Given the description of an element on the screen output the (x, y) to click on. 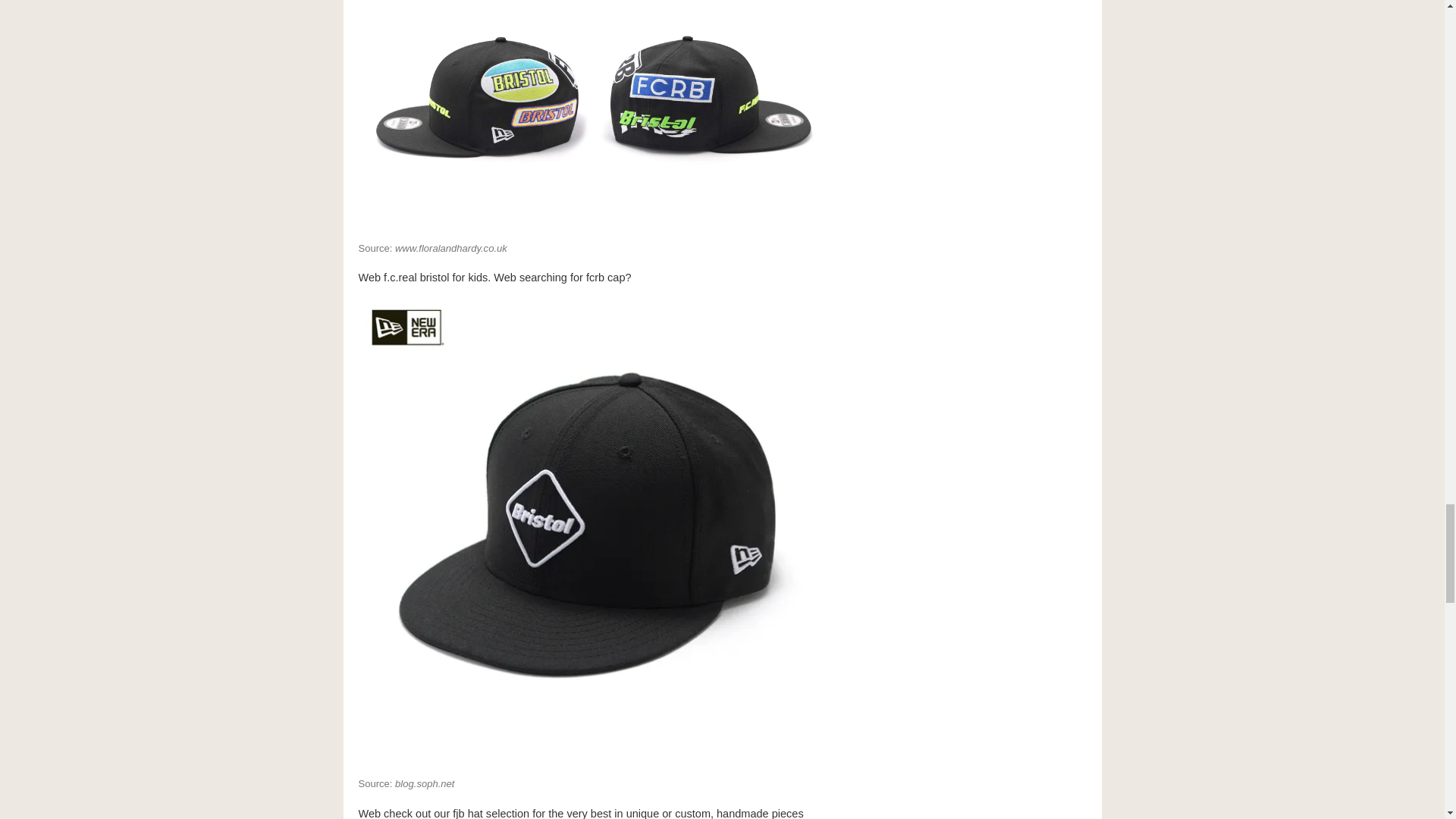
Incredible Fcrb Hats Ideas 8 (590, 113)
